Given the description of an element on the screen output the (x, y) to click on. 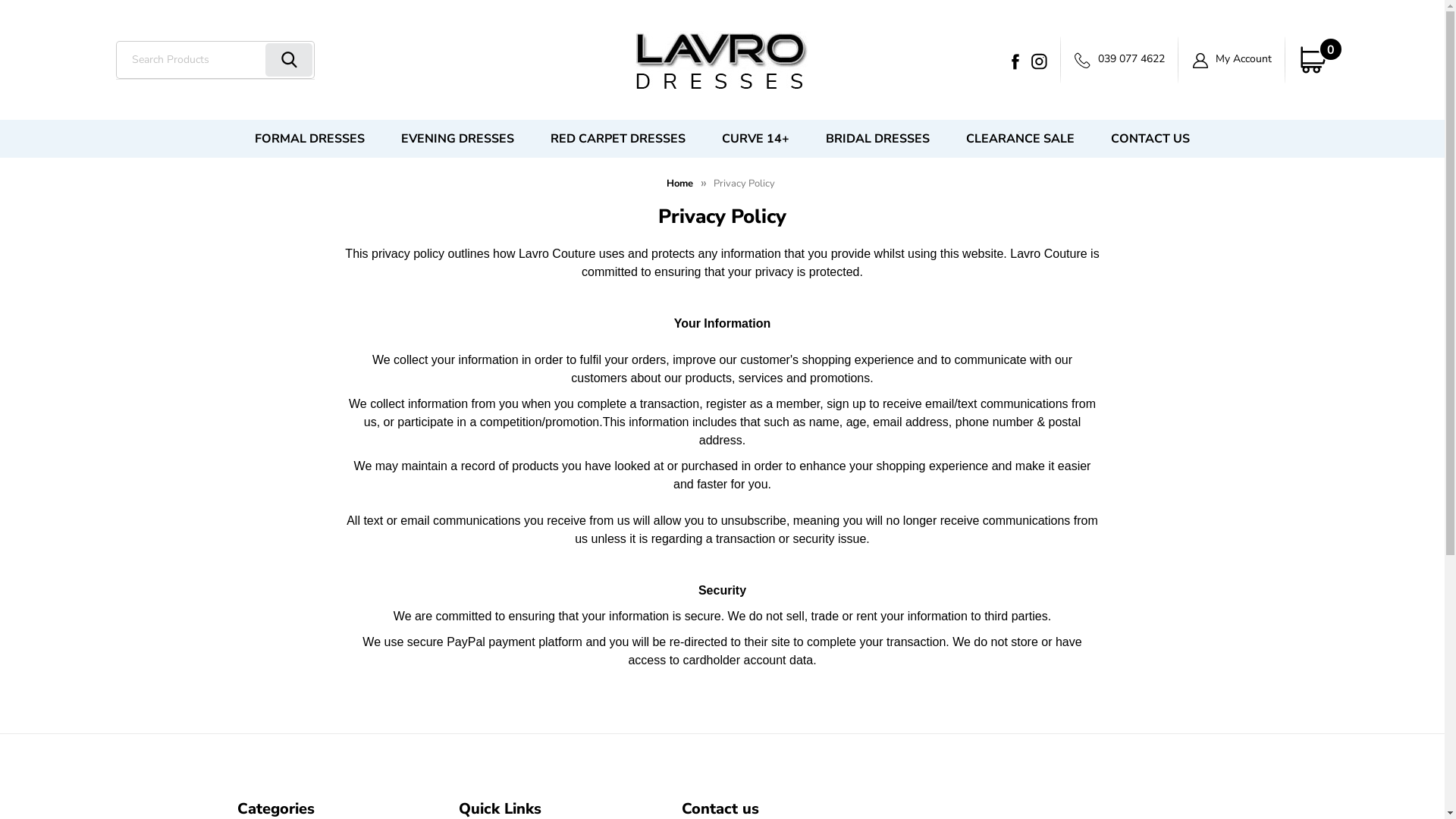
039 077 4622 Element type: text (1118, 59)
Search Element type: text (288, 58)
RED CARPET DRESSES Element type: text (617, 138)
CONTACT US Element type: text (1150, 138)
Instagram Element type: hover (1039, 61)
Privacy Policy Element type: text (744, 183)
CURVE 14+ Element type: text (755, 138)
Facebook Element type: hover (1014, 61)
0 Element type: text (1313, 59)
CLEARANCE SALE Element type: text (1019, 138)
EVENING DRESSES Element type: text (457, 138)
Home Element type: text (679, 183)
My Account Element type: text (1231, 59)
FORMAL DRESSES Element type: text (309, 138)
BRIDAL DRESSES Element type: text (877, 138)
